Given the description of an element on the screen output the (x, y) to click on. 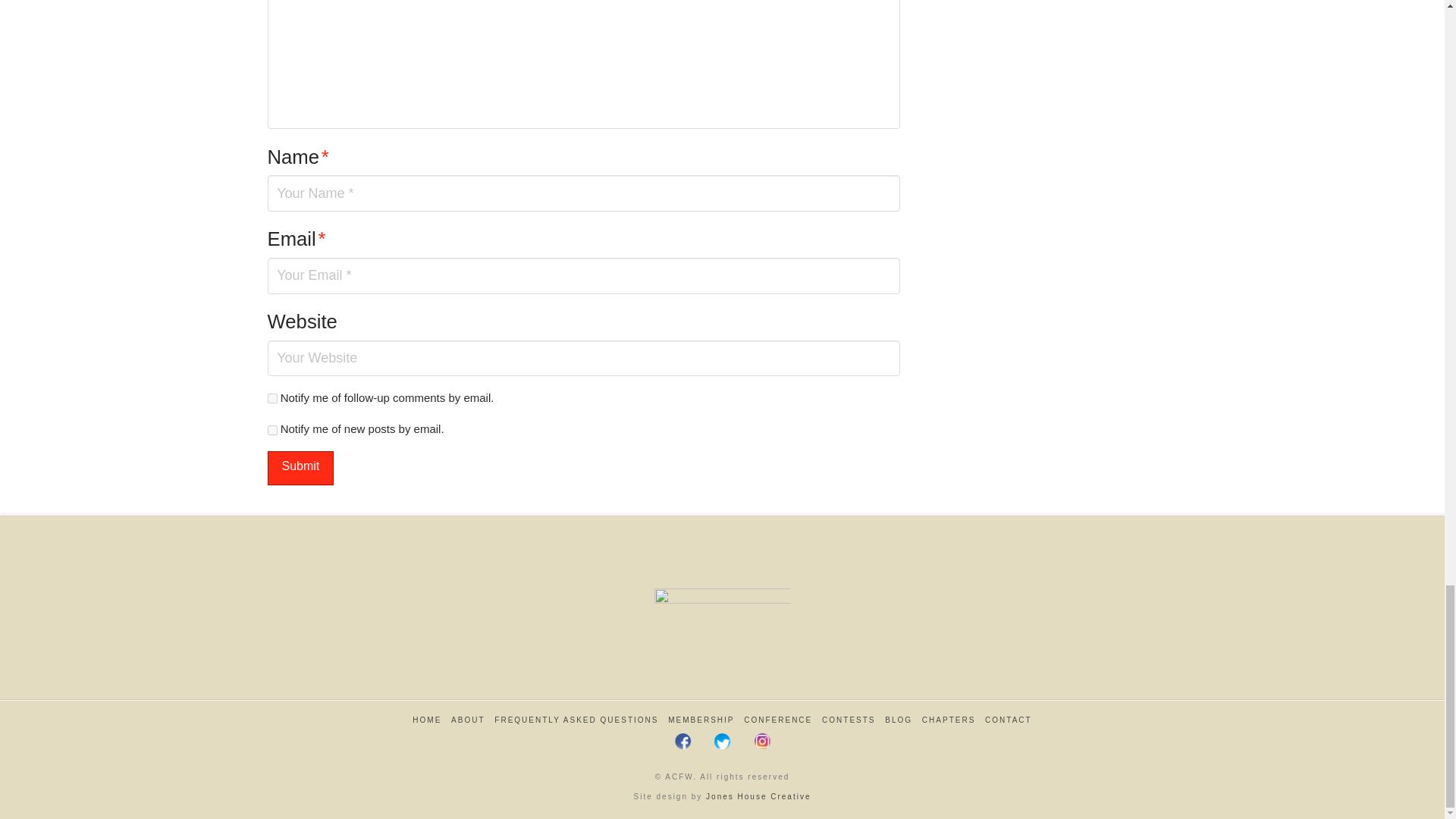
subscribe (271, 429)
Submit (299, 468)
Facebook (683, 740)
Instagram (762, 740)
subscribe (271, 398)
